Given the description of an element on the screen output the (x, y) to click on. 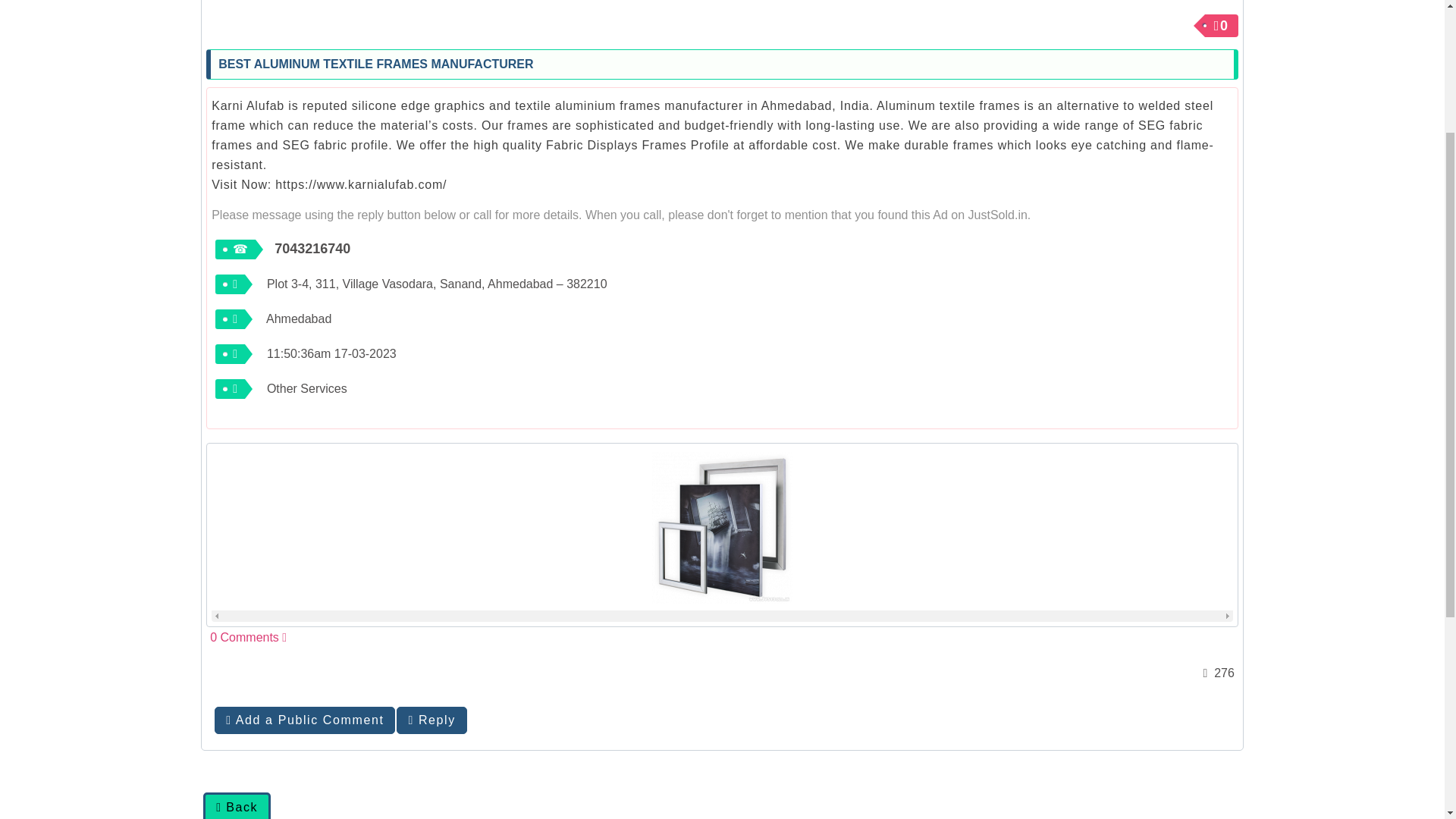
 Add a Public Comment (304, 719)
7043216740 (311, 248)
 Reply (430, 719)
